Given the description of an element on the screen output the (x, y) to click on. 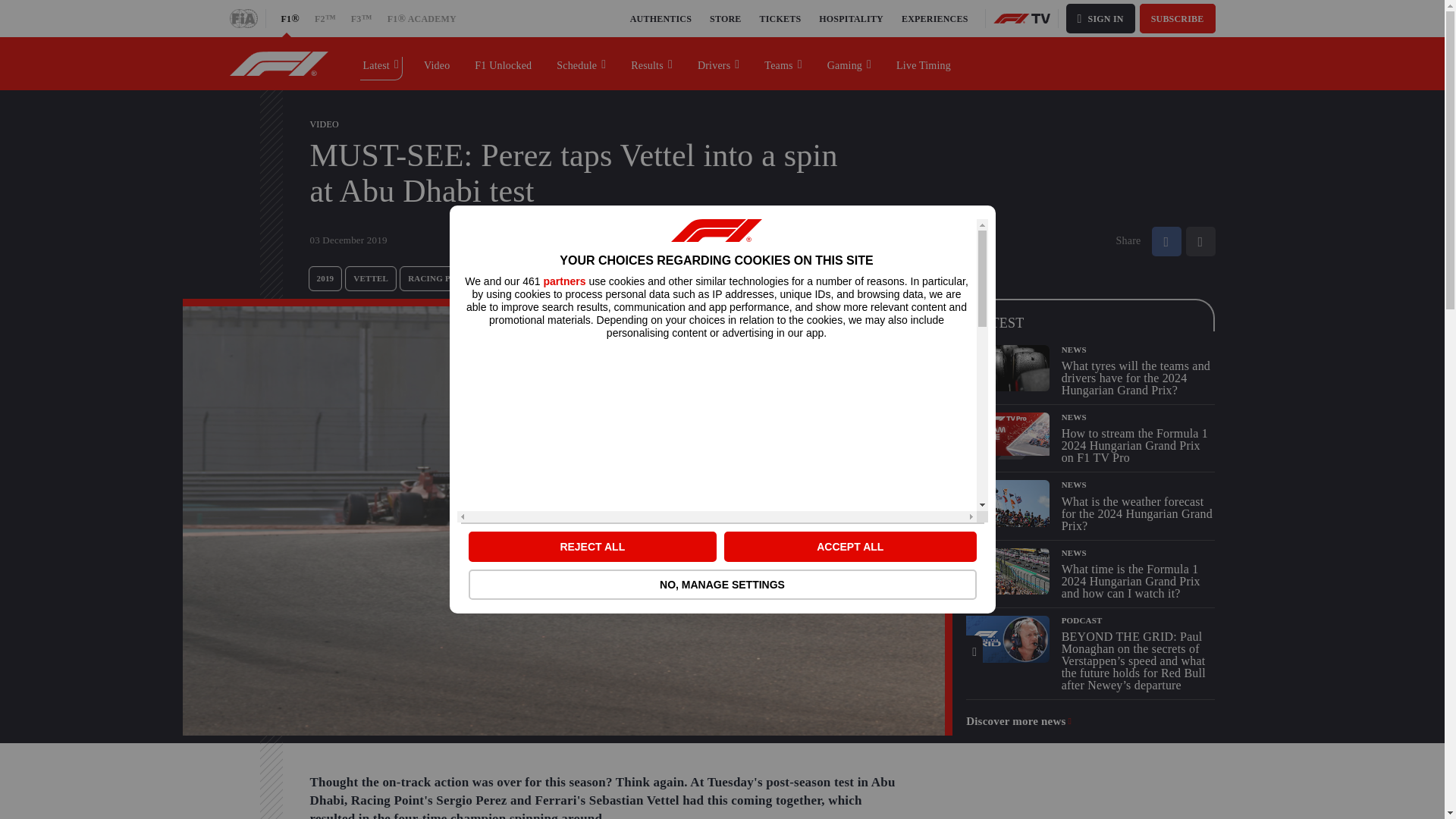
EXPERIENCES (934, 18)
STORE (725, 18)
F1 Unlocked (503, 63)
Schedule (581, 63)
Results (651, 63)
TICKETS (781, 18)
Gaming (849, 63)
Latest (380, 63)
Teams (782, 63)
SUBSCRIBE (1177, 18)
RACING POINT (439, 278)
Drivers (718, 63)
AUTHENTICS (660, 18)
